Given the description of an element on the screen output the (x, y) to click on. 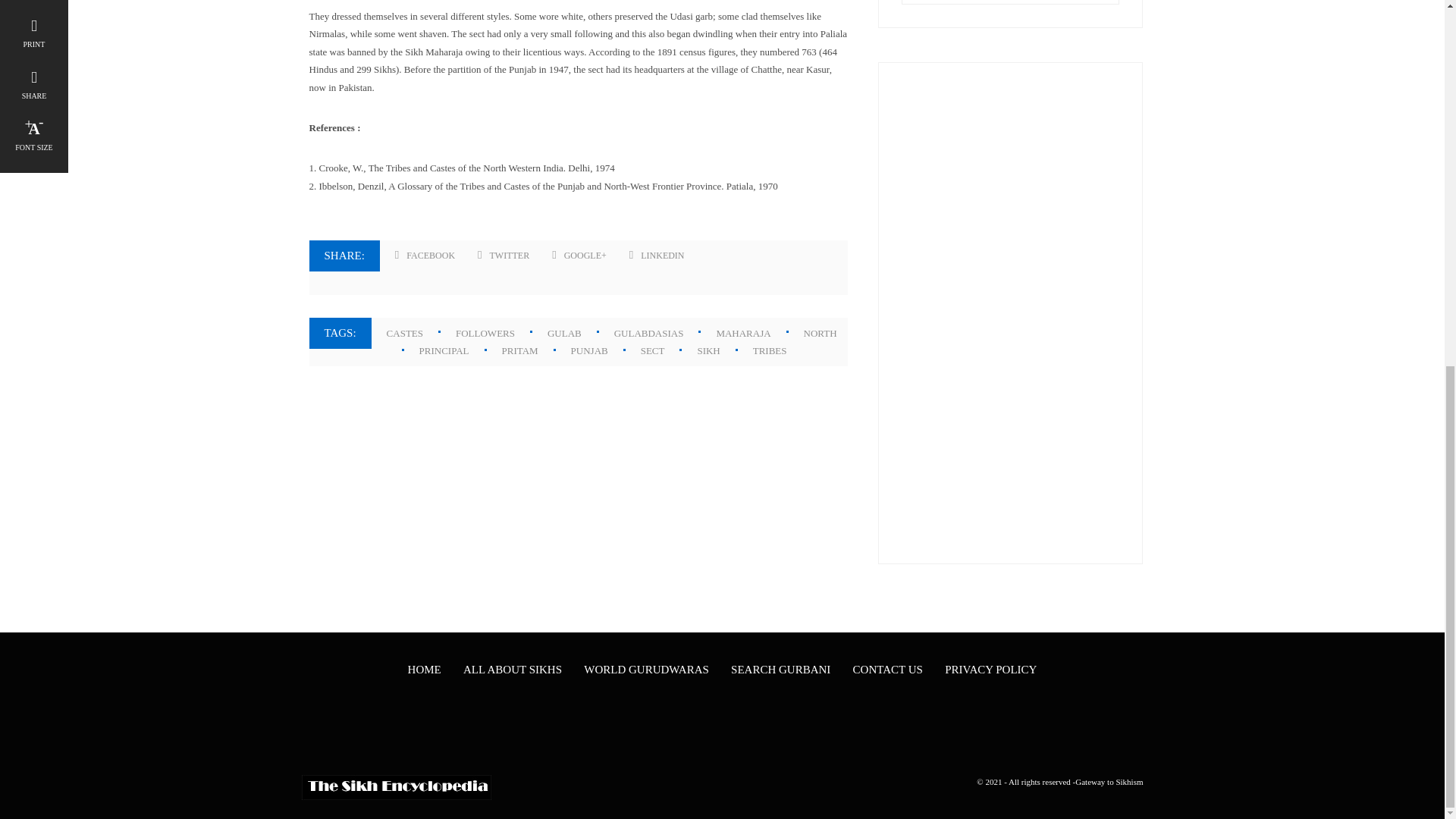
Share toLinkedin (656, 256)
Share toTwitter (503, 256)
The Sikh Encyclopedia (396, 787)
Share toFacebook (424, 256)
